Given the description of an element on the screen output the (x, y) to click on. 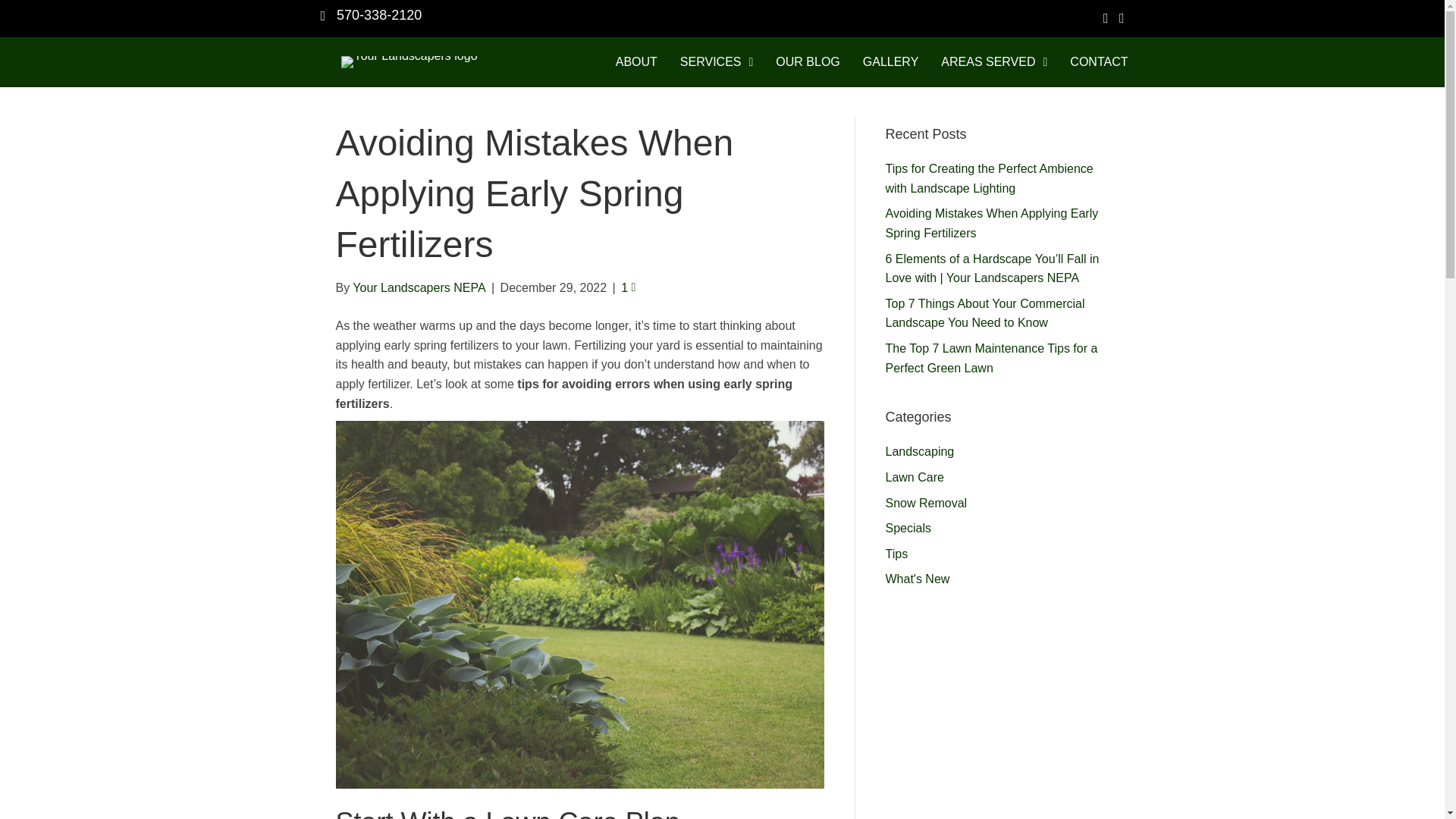
ABOUT (636, 62)
OUR BLOG (807, 62)
570-338-2120 (379, 15)
AREAS SERVED (993, 62)
Your Landscapers NEPA (418, 287)
SERVICES (716, 62)
1 (627, 287)
CONTACT (1098, 62)
Avoiding Mistakes When Applying Early Spring Fertilizers (992, 223)
Your Landscapers logo (408, 61)
GALLERY (891, 62)
The Top 7 Lawn Maintenance Tips for a Perfect Green Lawn (991, 358)
